Given the description of an element on the screen output the (x, y) to click on. 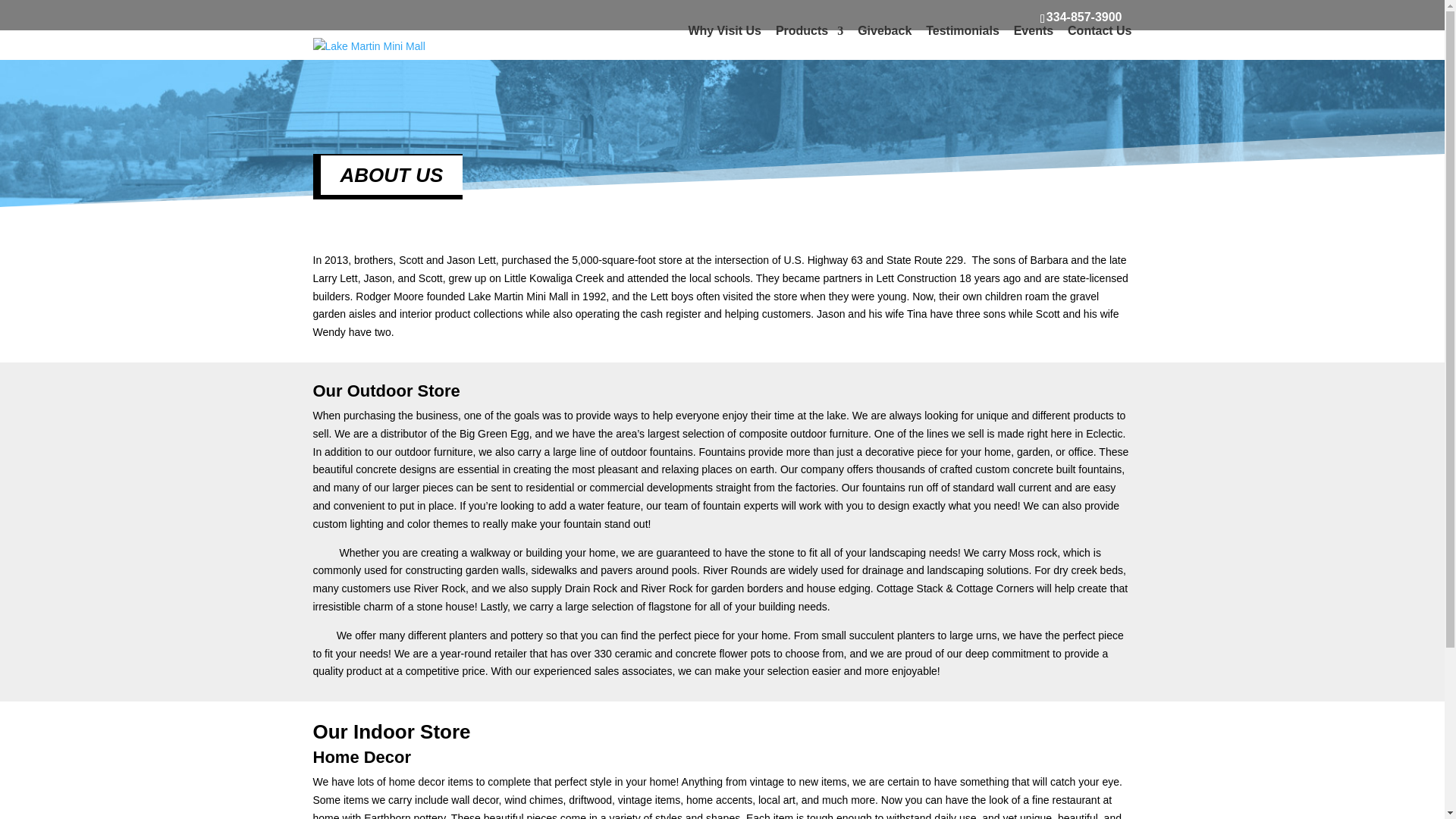
Why Visit Us (724, 30)
Testimonials (962, 30)
Giveback (884, 30)
Contact Us (1099, 30)
Products (809, 30)
334-857-3900 (1081, 17)
Events (1032, 30)
